Given the description of an element on the screen output the (x, y) to click on. 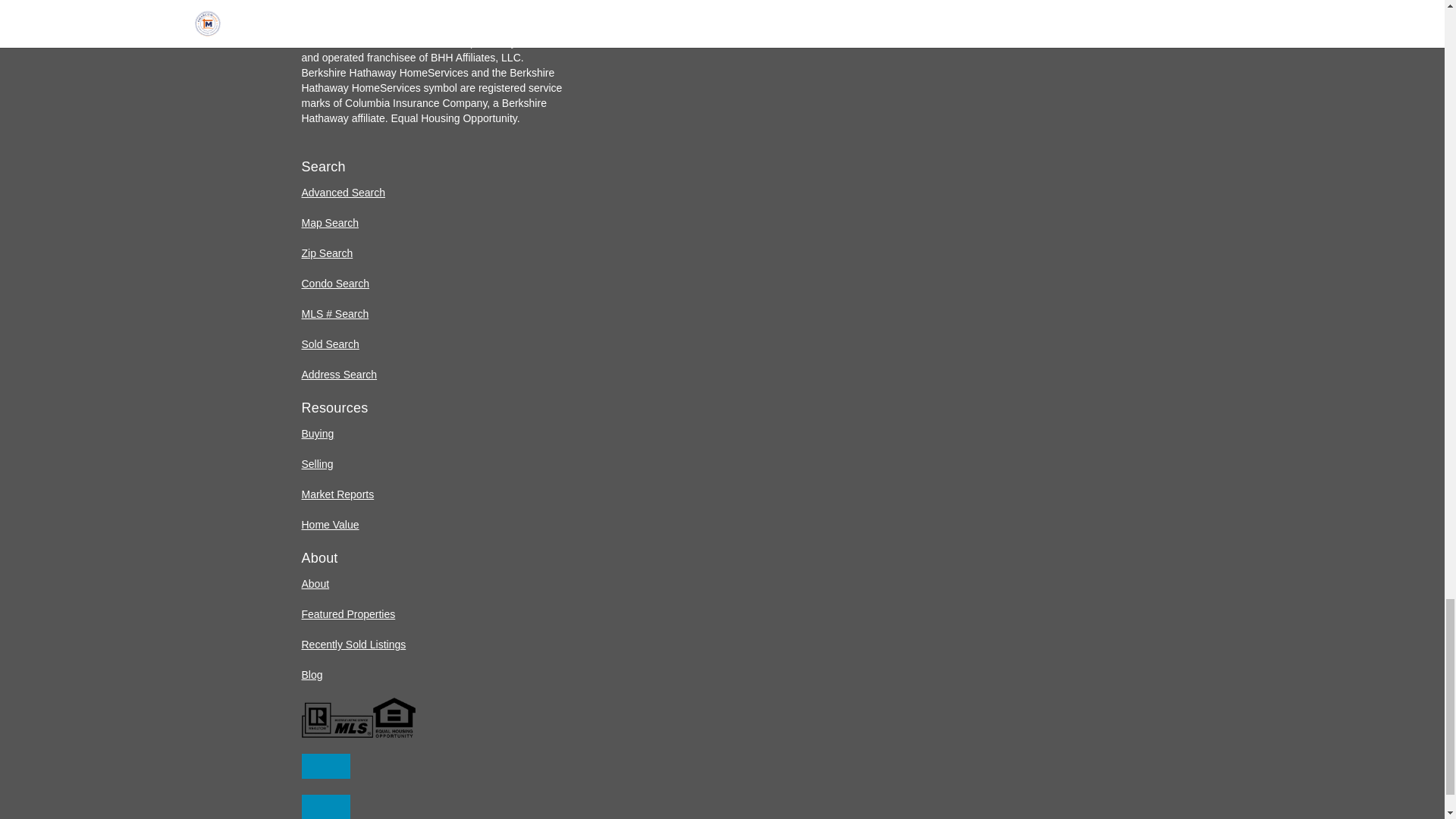
Go to top (325, 806)
Contact (325, 765)
